Given the description of an element on the screen output the (x, y) to click on. 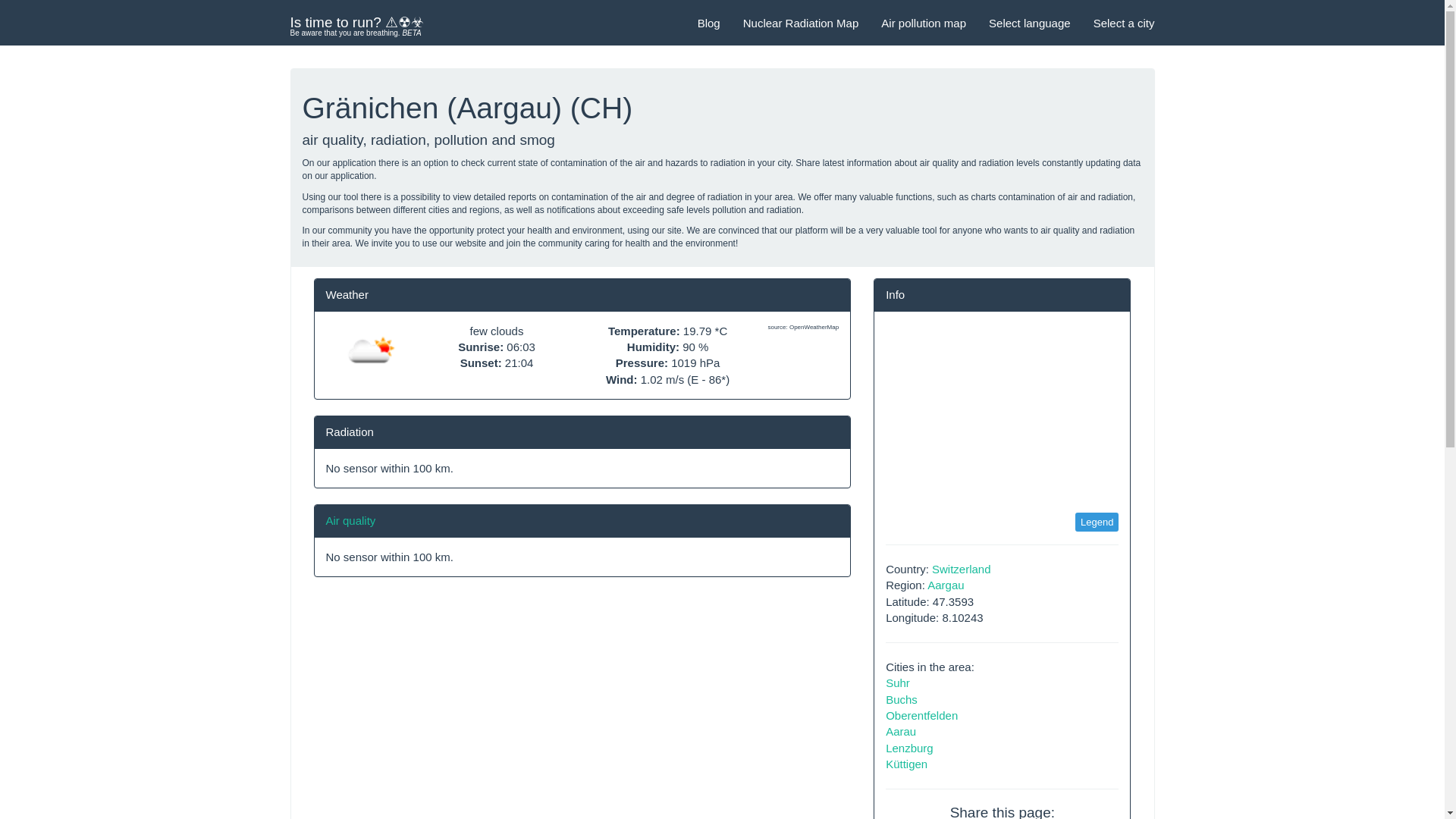
Blog (708, 22)
Legend (1096, 522)
Select a city (1123, 22)
Nuclear Radiation Map (801, 22)
Buchs (901, 698)
Lenzburg (909, 748)
Select language (1028, 22)
Switzerland (961, 568)
Oberentfelden (921, 715)
Air quality (350, 520)
Air pollution map (922, 22)
Aarau (900, 730)
Suhr (897, 682)
Aargau (945, 584)
